Given the description of an element on the screen output the (x, y) to click on. 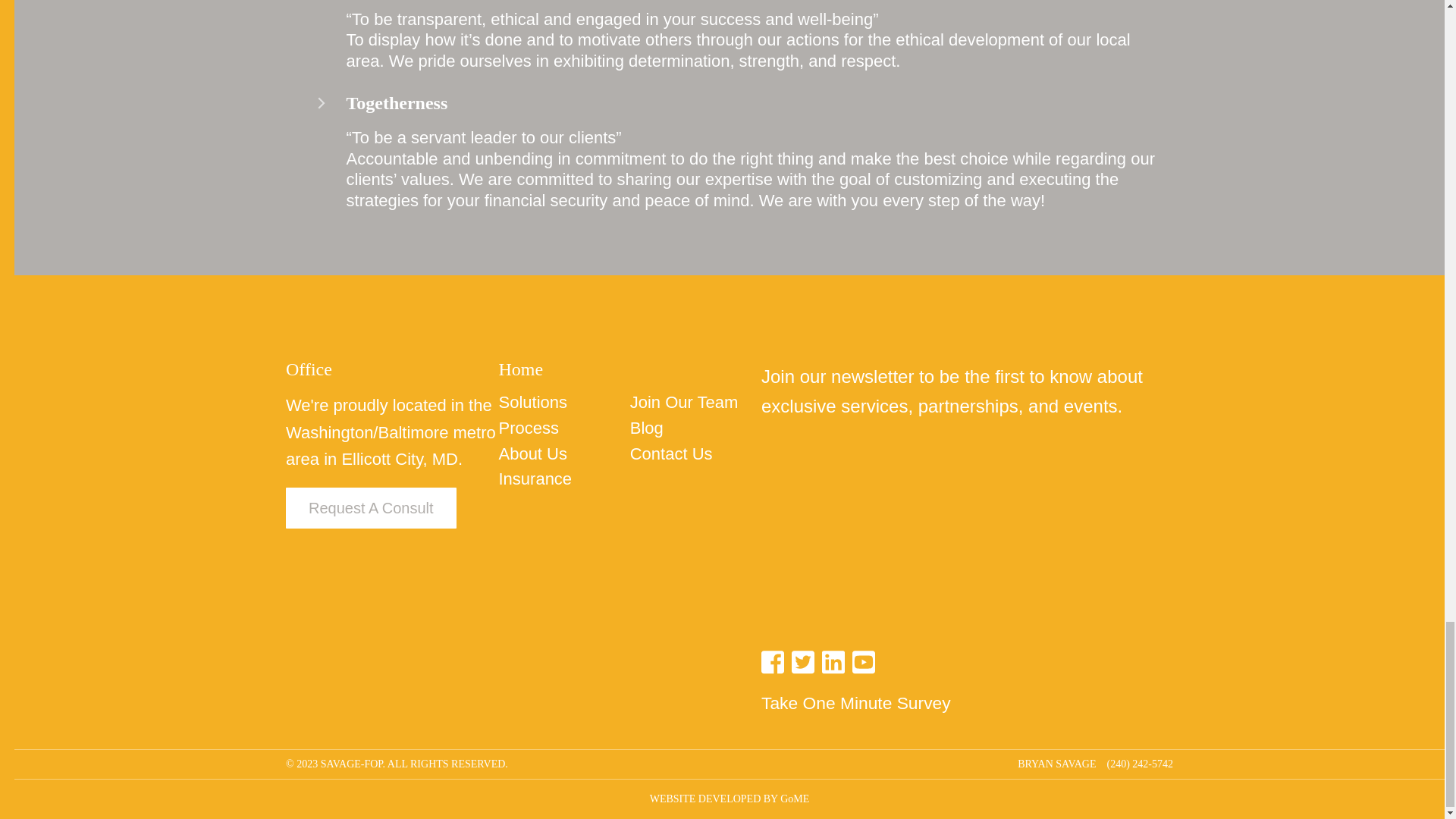
Solutions (532, 403)
Insurance (534, 479)
About Us (532, 454)
Blog (646, 428)
Take One Minute Survey (967, 702)
Contact Us (671, 454)
Join Our Team (684, 403)
Process (527, 428)
Request A Consult (371, 507)
GoME (794, 798)
